Given the description of an element on the screen output the (x, y) to click on. 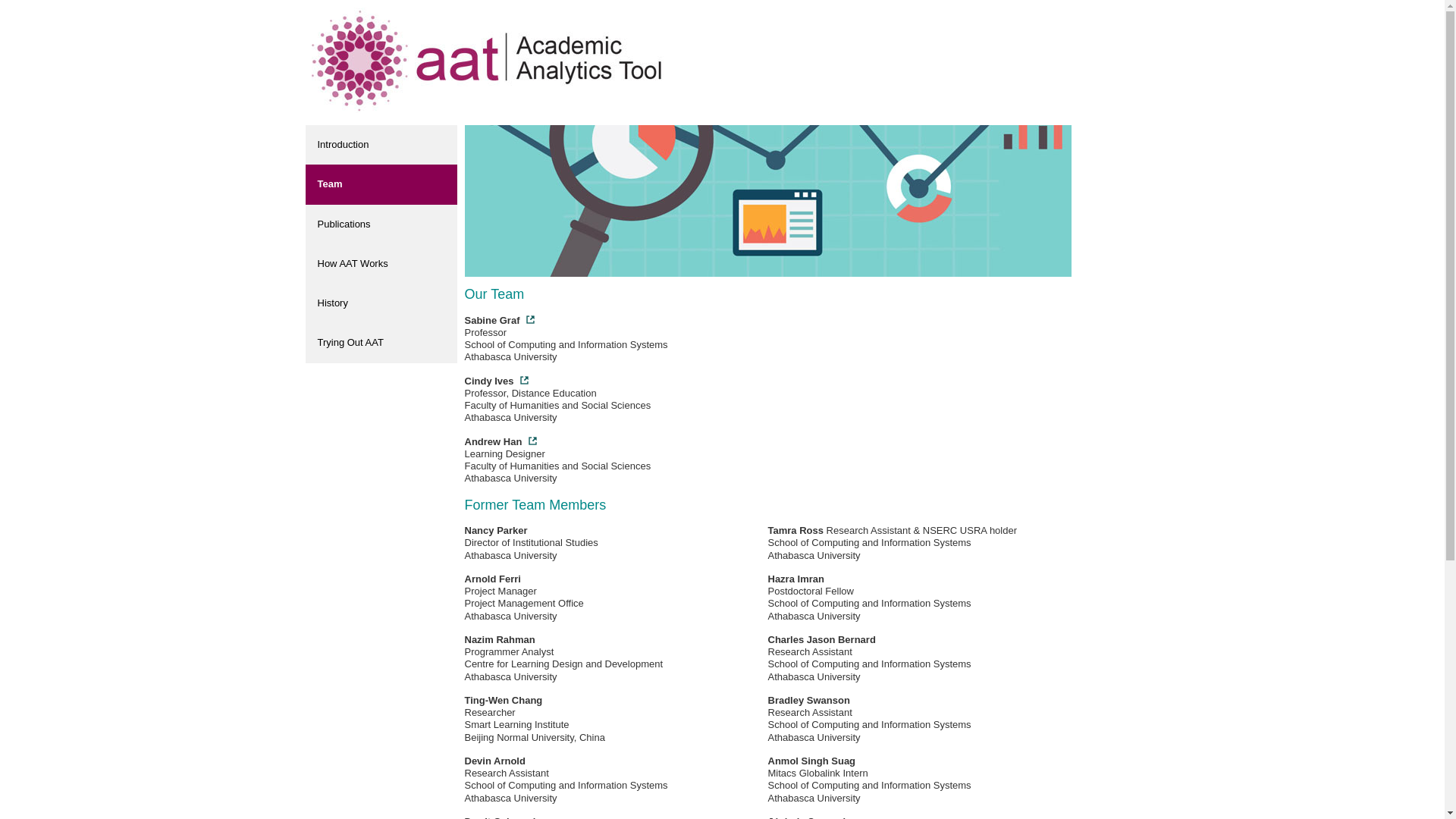
Publications Element type: text (380, 224)
How AAT Works Element type: text (380, 263)
History Element type: text (380, 303)
Introduction Element type: text (380, 144)
Team Element type: text (380, 183)
Trying Out AAT Element type: text (380, 342)
